Given the description of an element on the screen output the (x, y) to click on. 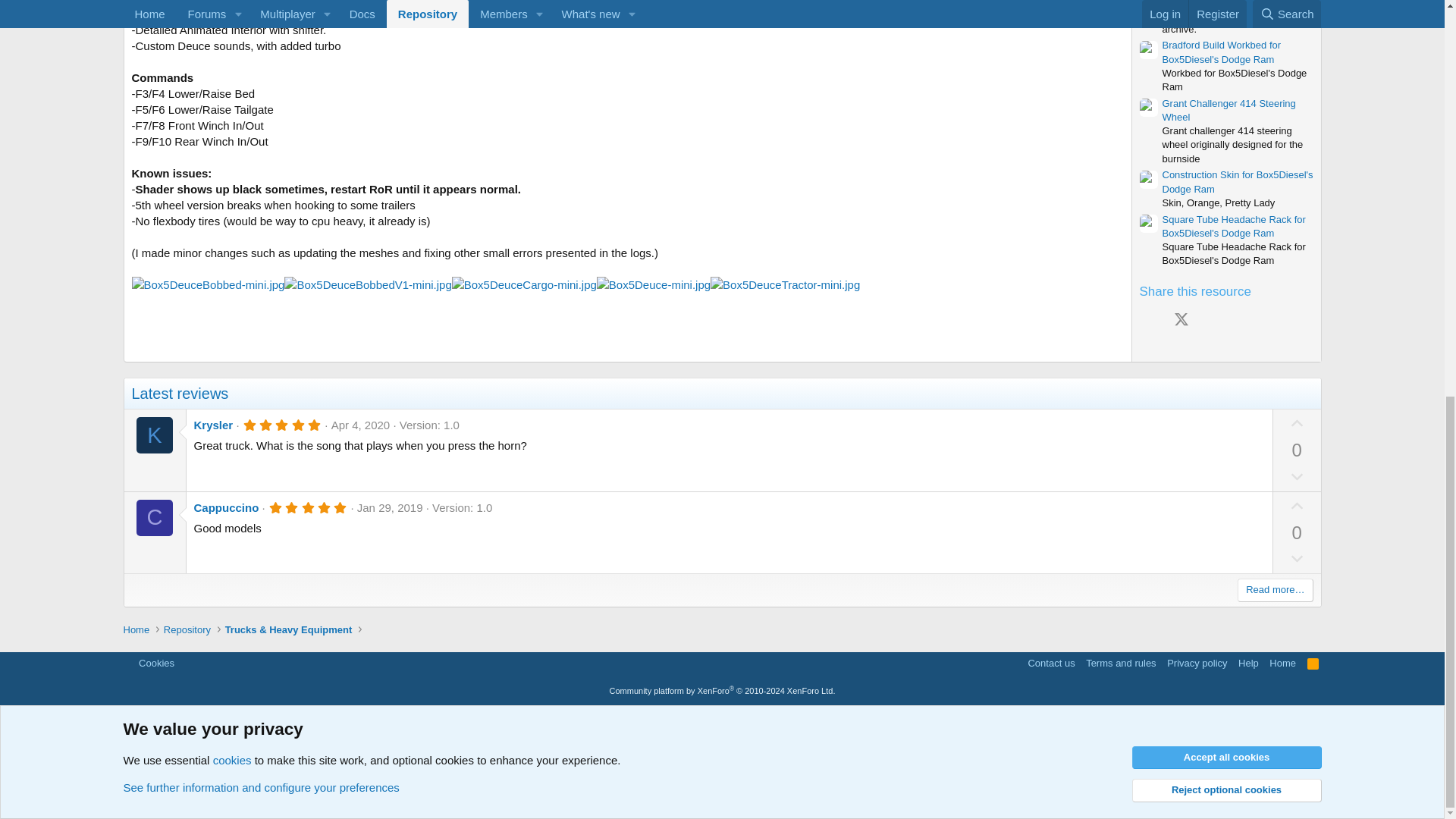
Box5Deuce-mini.jpg (653, 284)
Box5DeuceTractor-mini.jpg (785, 284)
Box5DeuceBobbedV1-mini.jpg (367, 284)
Box5DeuceCargo-mini.jpg (523, 284)
Style variation (190, 663)
Apr 4, 2020 at 3:22 PM (360, 424)
Box5DeuceBobbed-mini.jpg (208, 284)
